Given the description of an element on the screen output the (x, y) to click on. 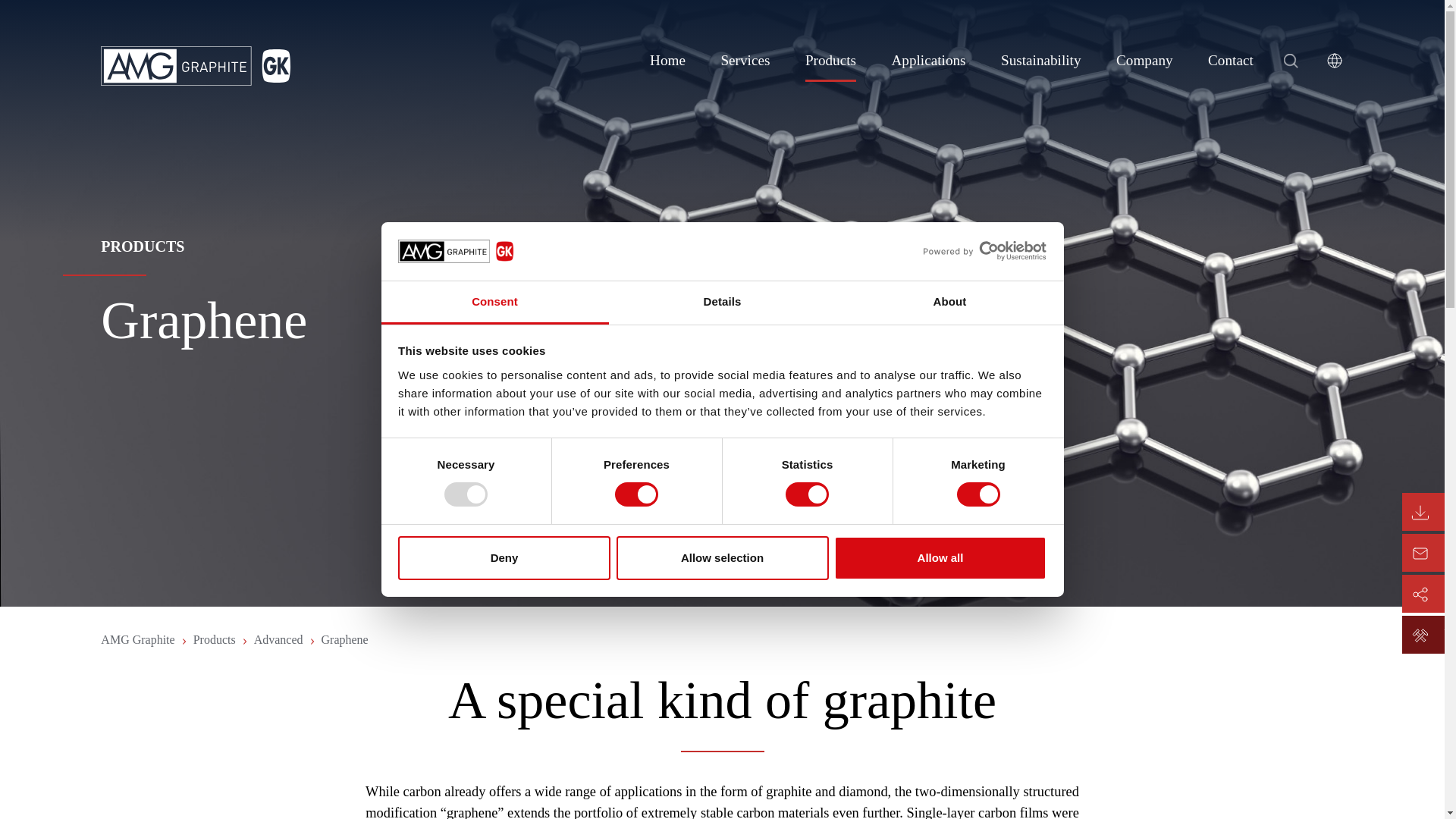
Services (745, 65)
Home (667, 65)
Consent (494, 302)
Deny (503, 557)
About (948, 302)
Services (745, 65)
Details (721, 302)
Allow all (940, 557)
Allow selection (721, 557)
Home (667, 65)
